Given the description of an element on the screen output the (x, y) to click on. 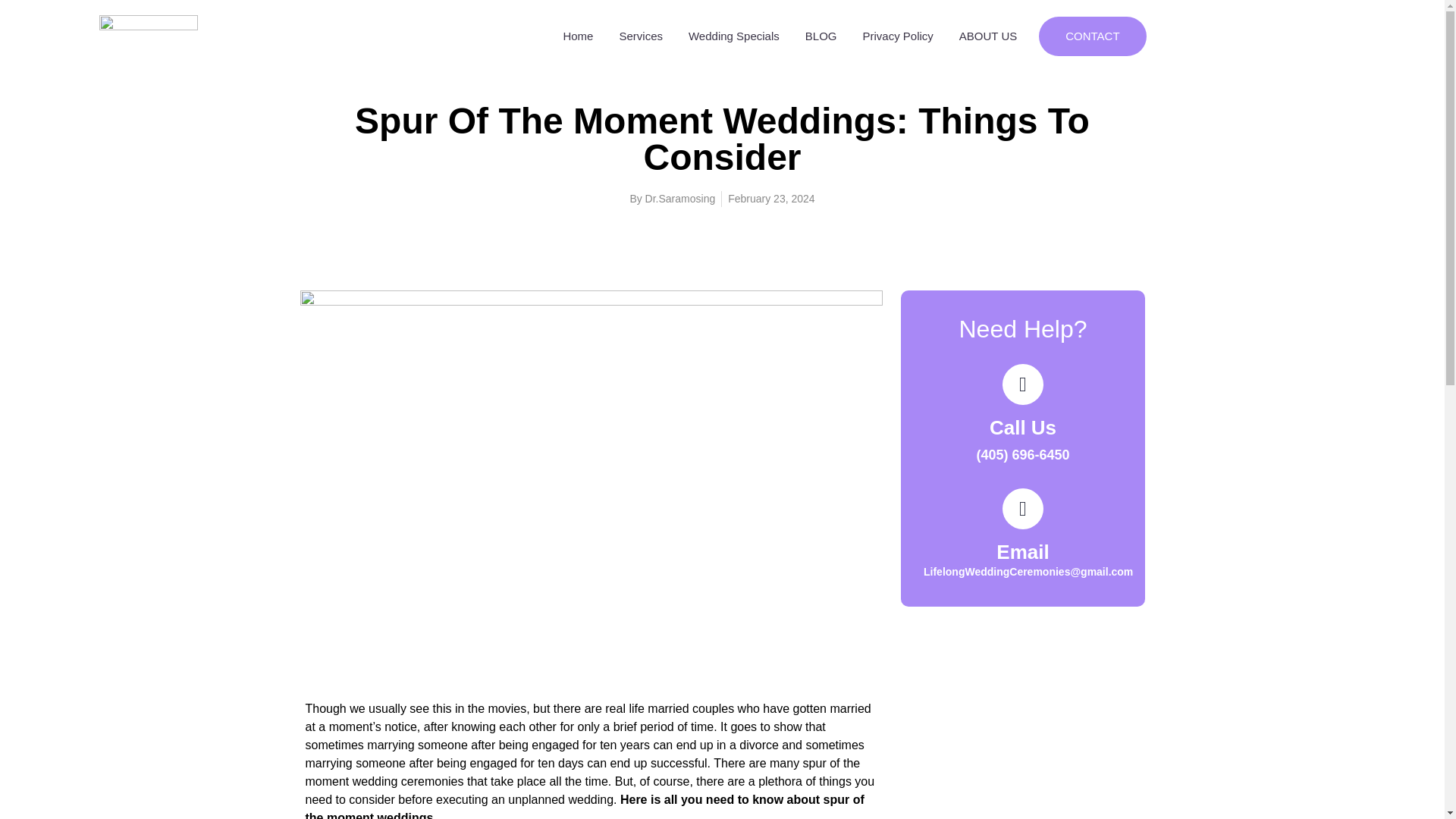
BLOG (821, 36)
Privacy Policy (896, 36)
CONTACT (1092, 36)
Services (640, 36)
Home (577, 36)
ABOUT US (987, 36)
Wedding Specials (733, 36)
